Given the description of an element on the screen output the (x, y) to click on. 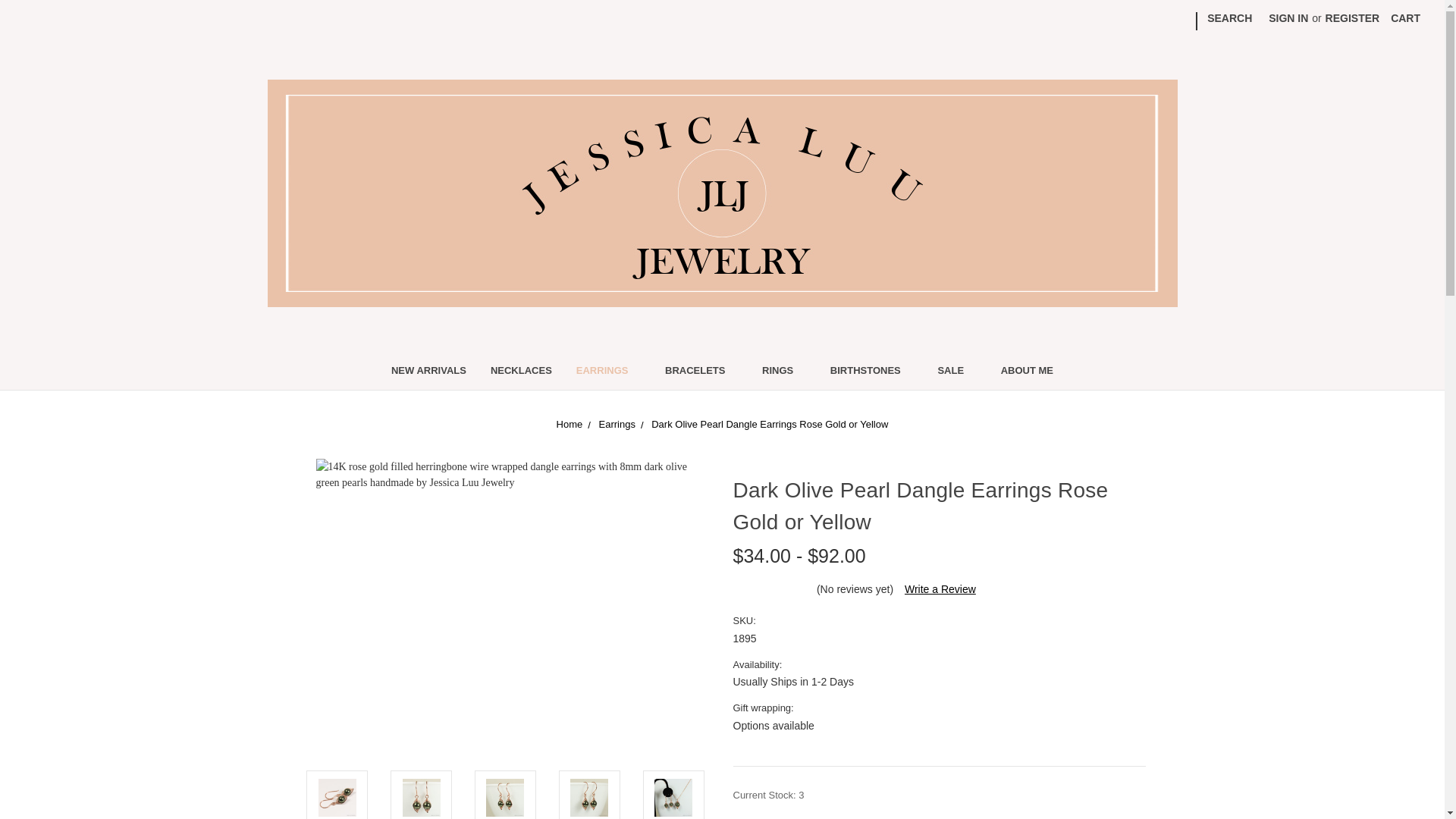
NECKLACES (521, 371)
NEW ARRIVALS (428, 371)
SALE (956, 371)
BRACELETS (700, 371)
SEARCH (1229, 18)
EARRINGS (608, 371)
REGISTER (1353, 18)
BIRTHSTONES (872, 371)
RINGS (783, 371)
